Given the description of an element on the screen output the (x, y) to click on. 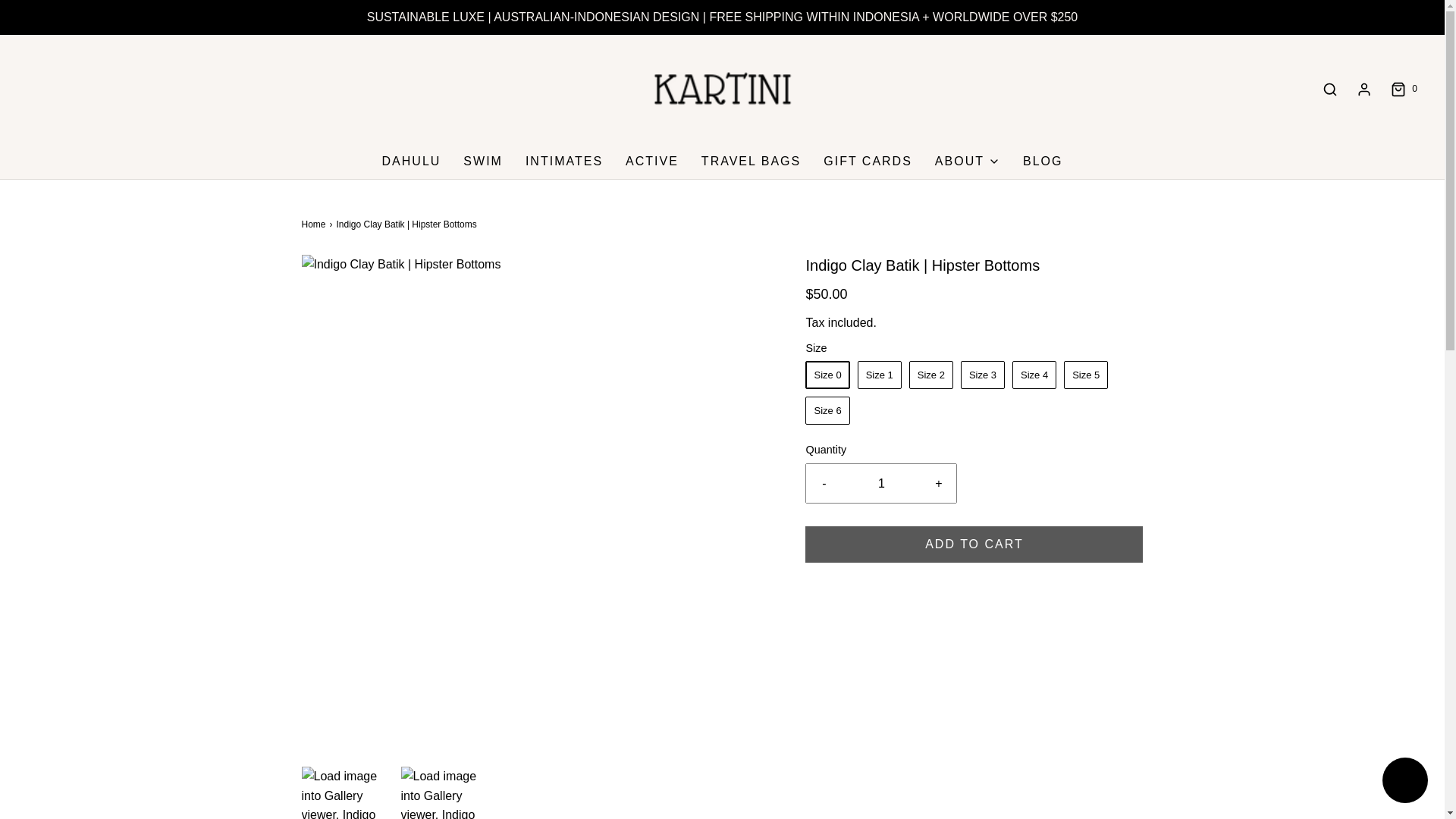
Back to the frontpage (315, 224)
1 (881, 483)
Search (1329, 89)
Cart (1403, 89)
Shopify online store chat (1404, 781)
Log in (1364, 89)
